Given the description of an element on the screen output the (x, y) to click on. 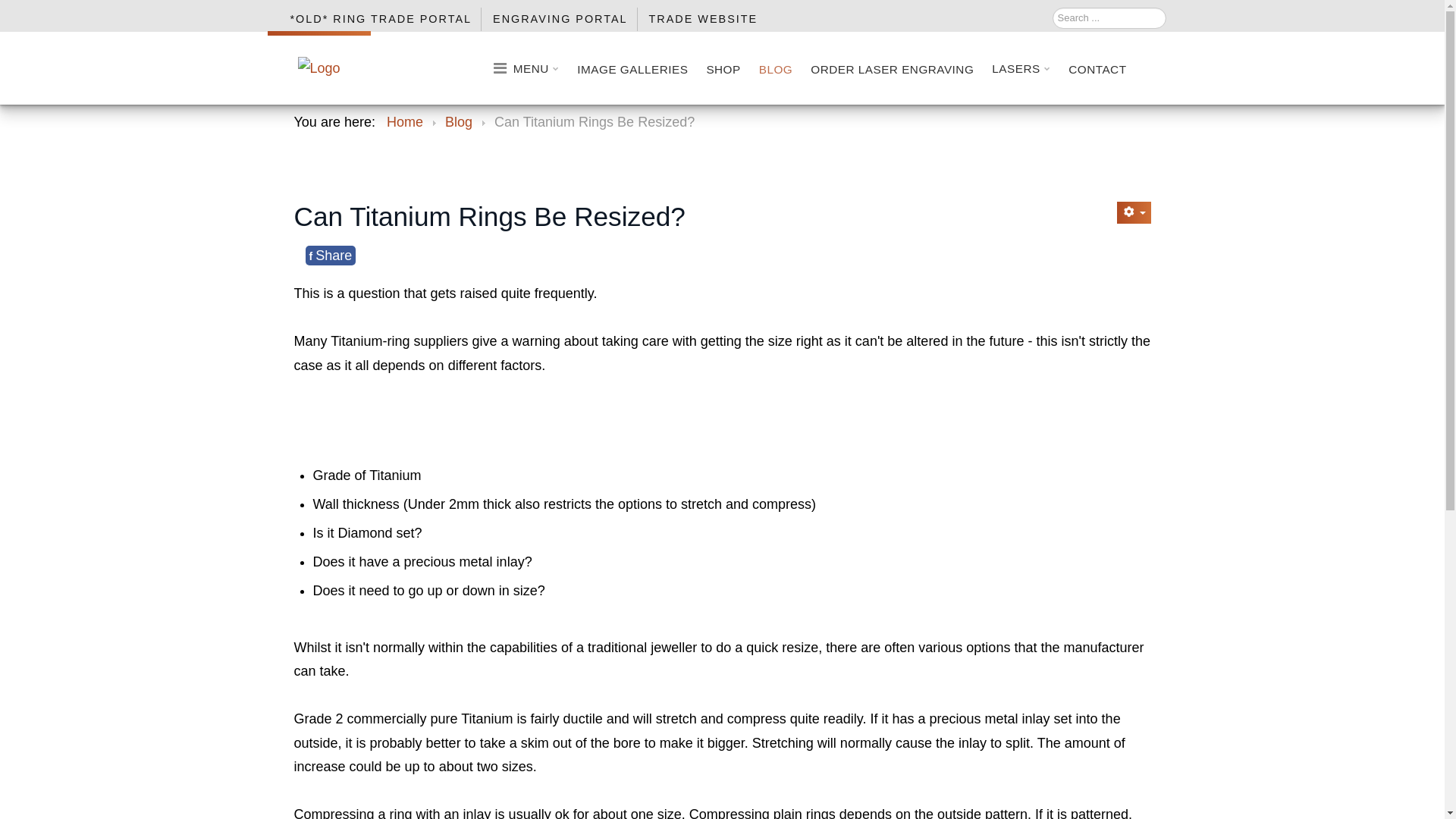
IMAGE GALLERIES Element type: text (632, 67)
Home Element type: text (404, 121)
MENU Element type: text (522, 68)
BLOG Element type: text (776, 67)
fShare Element type: text (329, 255)
CONTACT Element type: text (1097, 67)
*OLD* RING TRADE PORTAL Element type: text (380, 19)
LASERS Element type: text (1020, 68)
ORDER LASER ENGRAVING Element type: text (891, 67)
Blog Element type: text (458, 121)
ENGRAVING PORTAL Element type: text (559, 19)
SHOP Element type: text (723, 67)
TRADE WEBSITE Element type: text (702, 19)
GETI Titanium Rings & Black Zirconium Rings Element type: hover (318, 68)
